Given the description of an element on the screen output the (x, y) to click on. 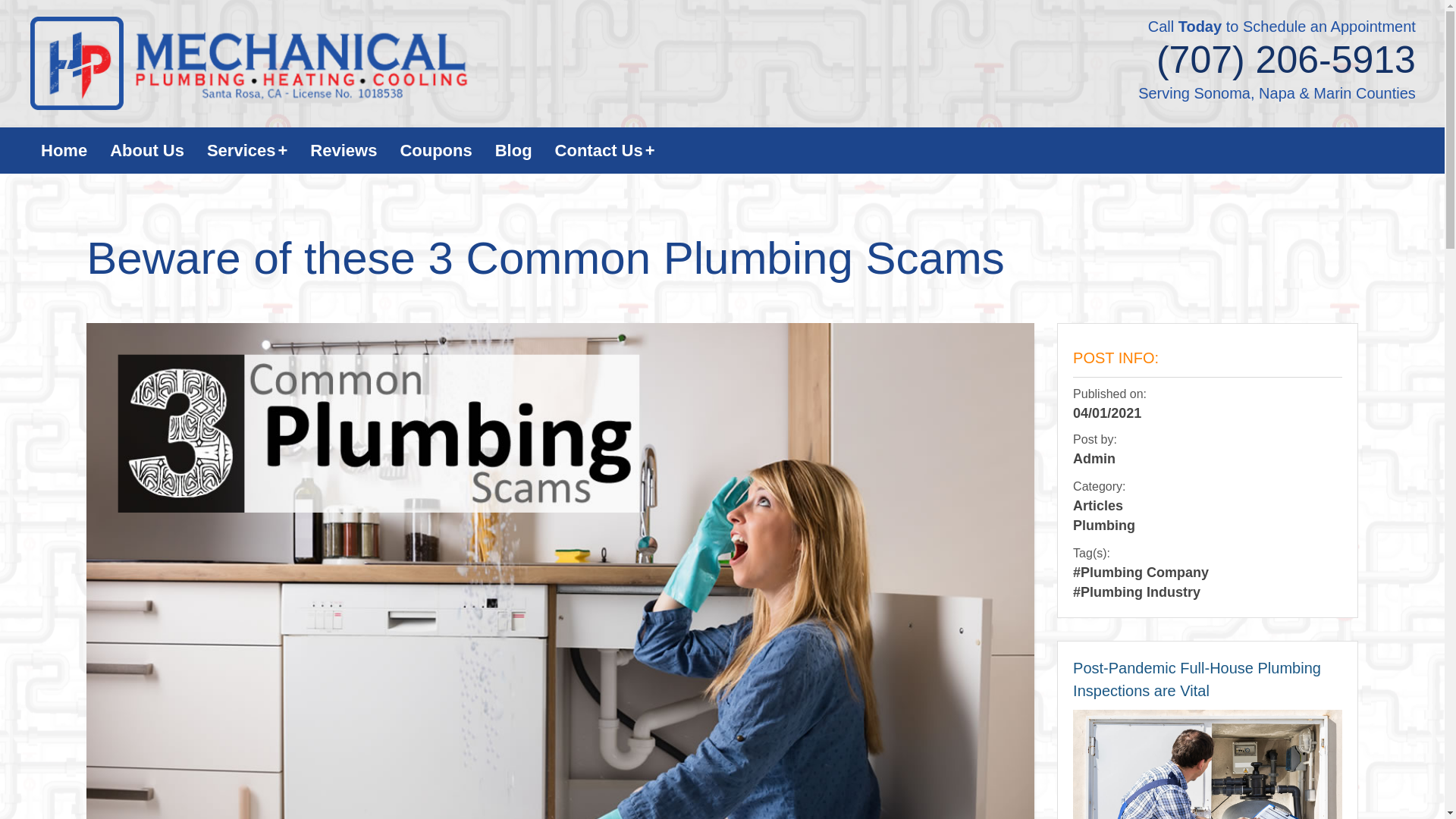
Home (64, 150)
Reviews (343, 150)
Blog (513, 150)
About Us (147, 150)
Coupons (435, 150)
